Given the description of an element on the screen output the (x, y) to click on. 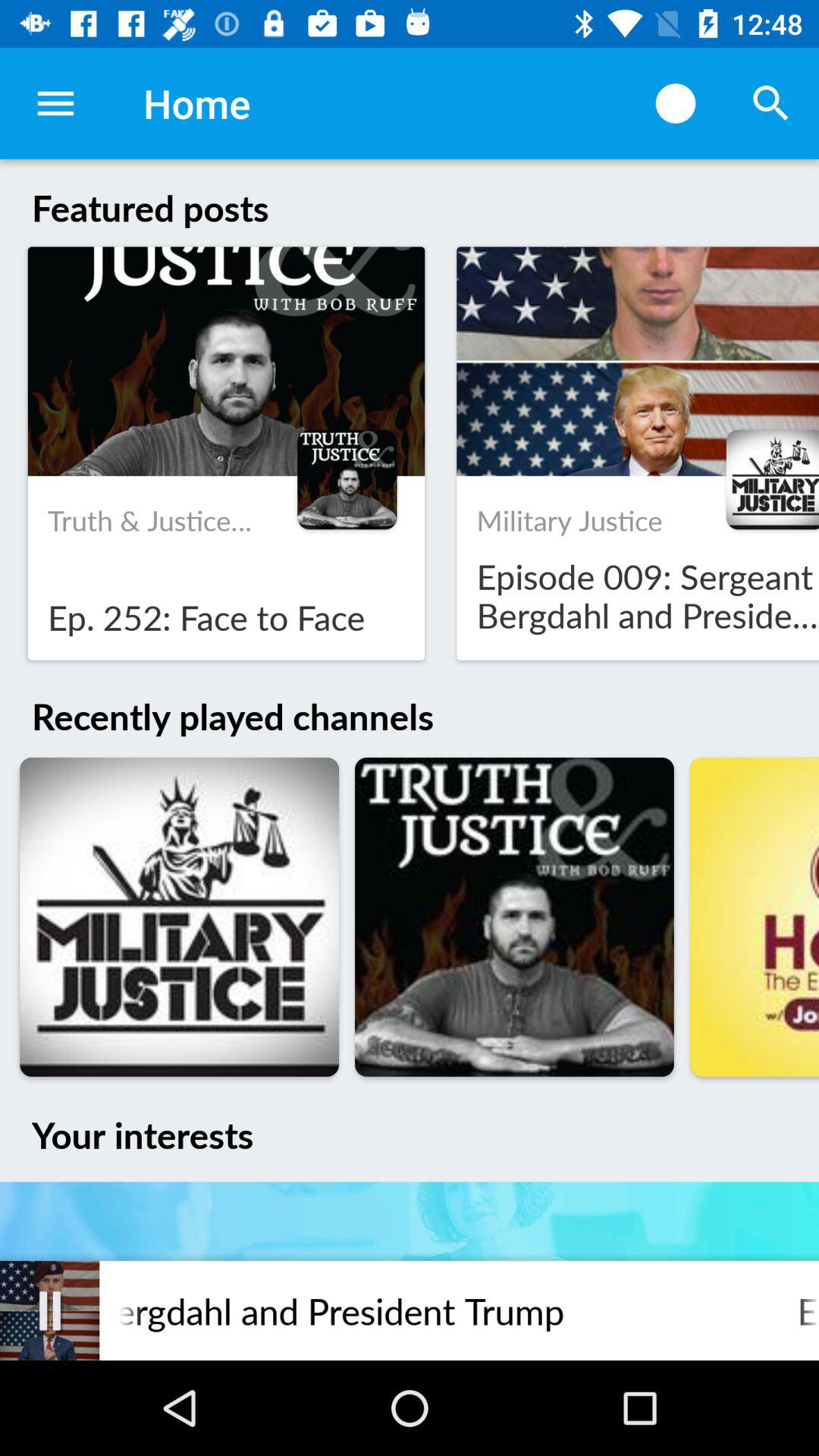
open item above the featured posts item (55, 103)
